Given the description of an element on the screen output the (x, y) to click on. 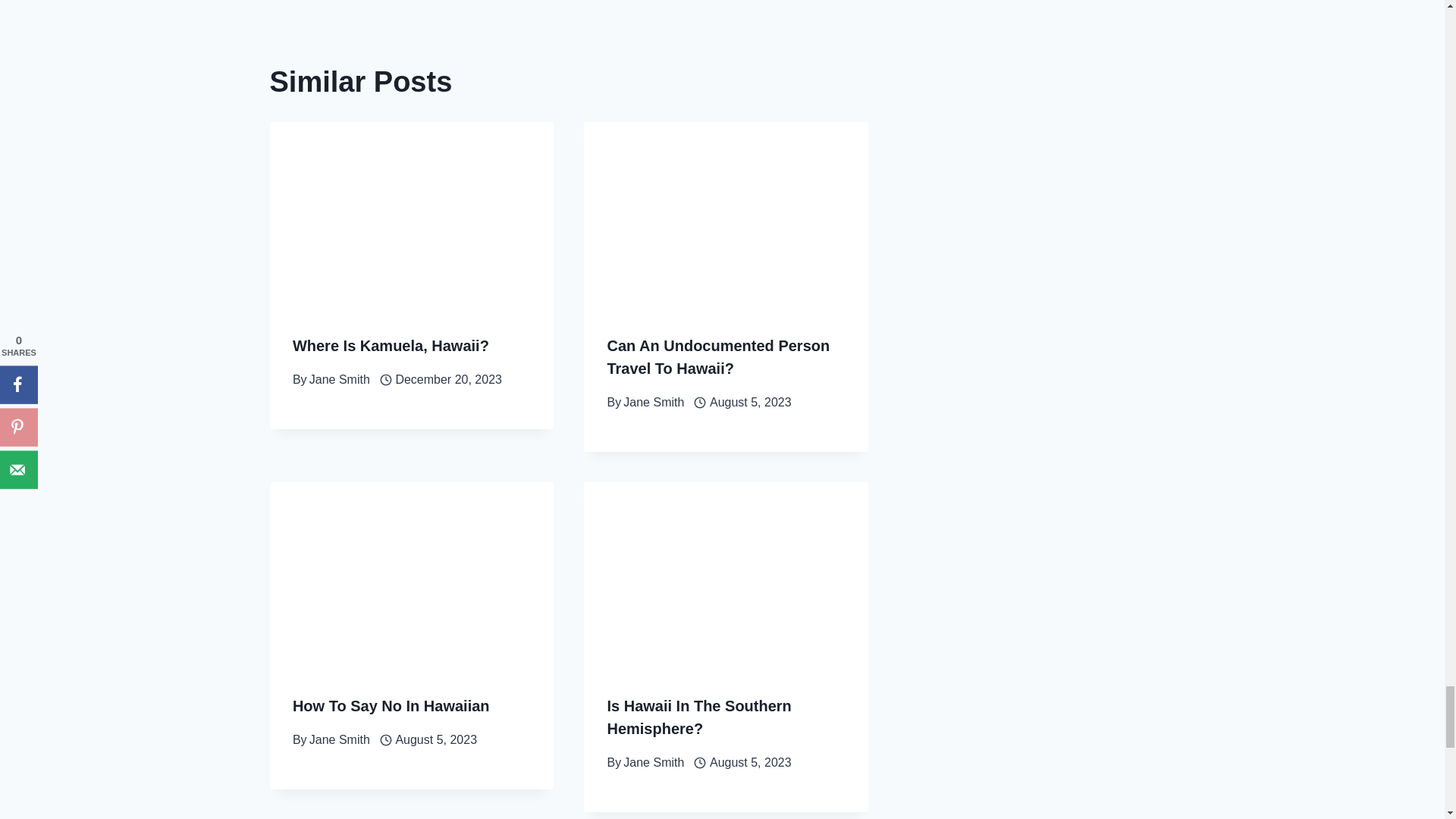
Where Is Kamuela, Hawaii? (390, 345)
How To Say No In Hawaiian (390, 705)
Jane Smith (653, 762)
Can An Undocumented Person Travel To Hawaii? (718, 356)
Jane Smith (338, 379)
Jane Smith (653, 401)
Jane Smith (338, 739)
Is Hawaii In The Southern Hemisphere? (698, 717)
